Given the description of an element on the screen output the (x, y) to click on. 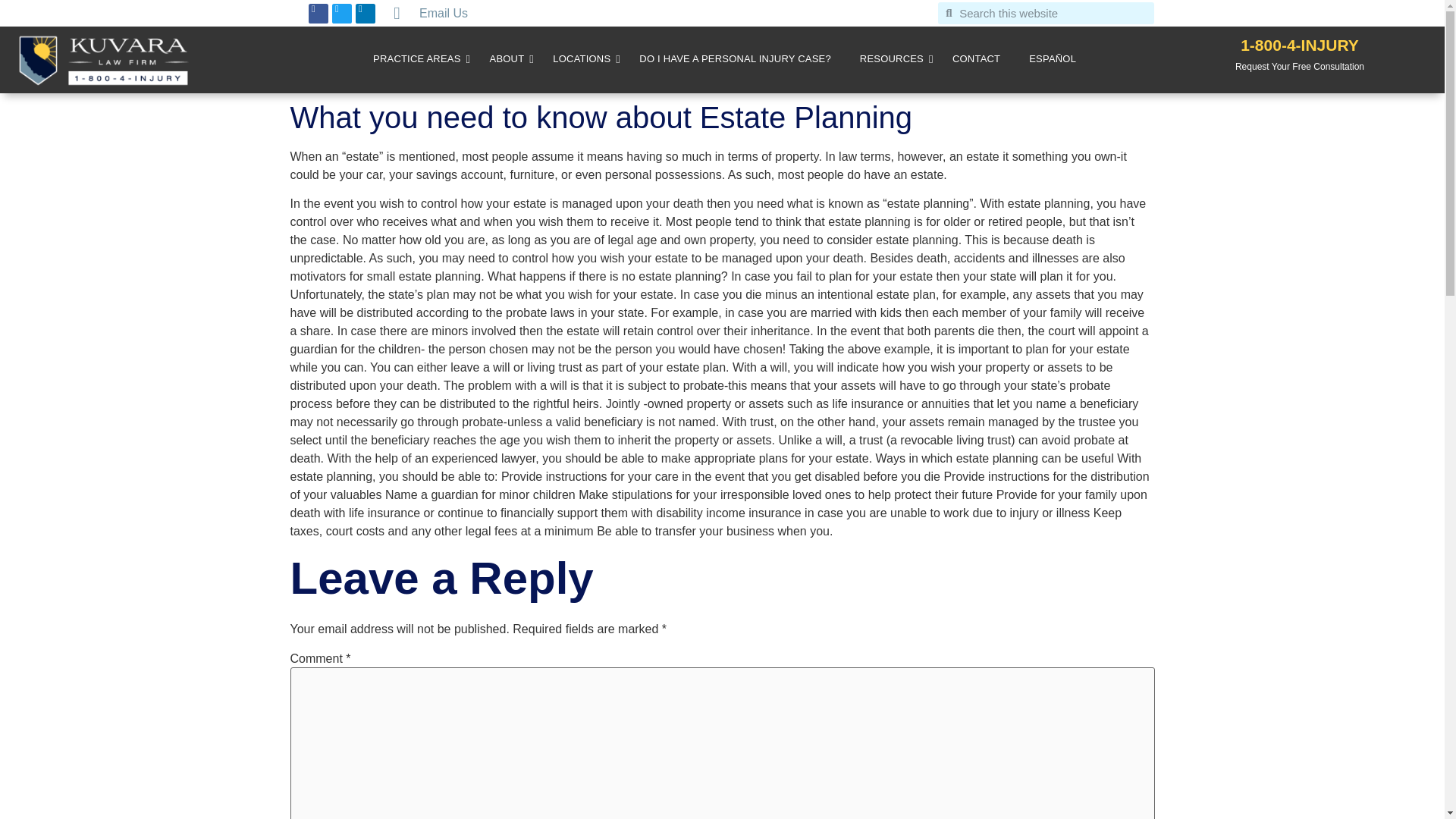
PRACTICE AREAS (416, 60)
ABOUT (506, 60)
Email Us (445, 13)
